Given the description of an element on the screen output the (x, y) to click on. 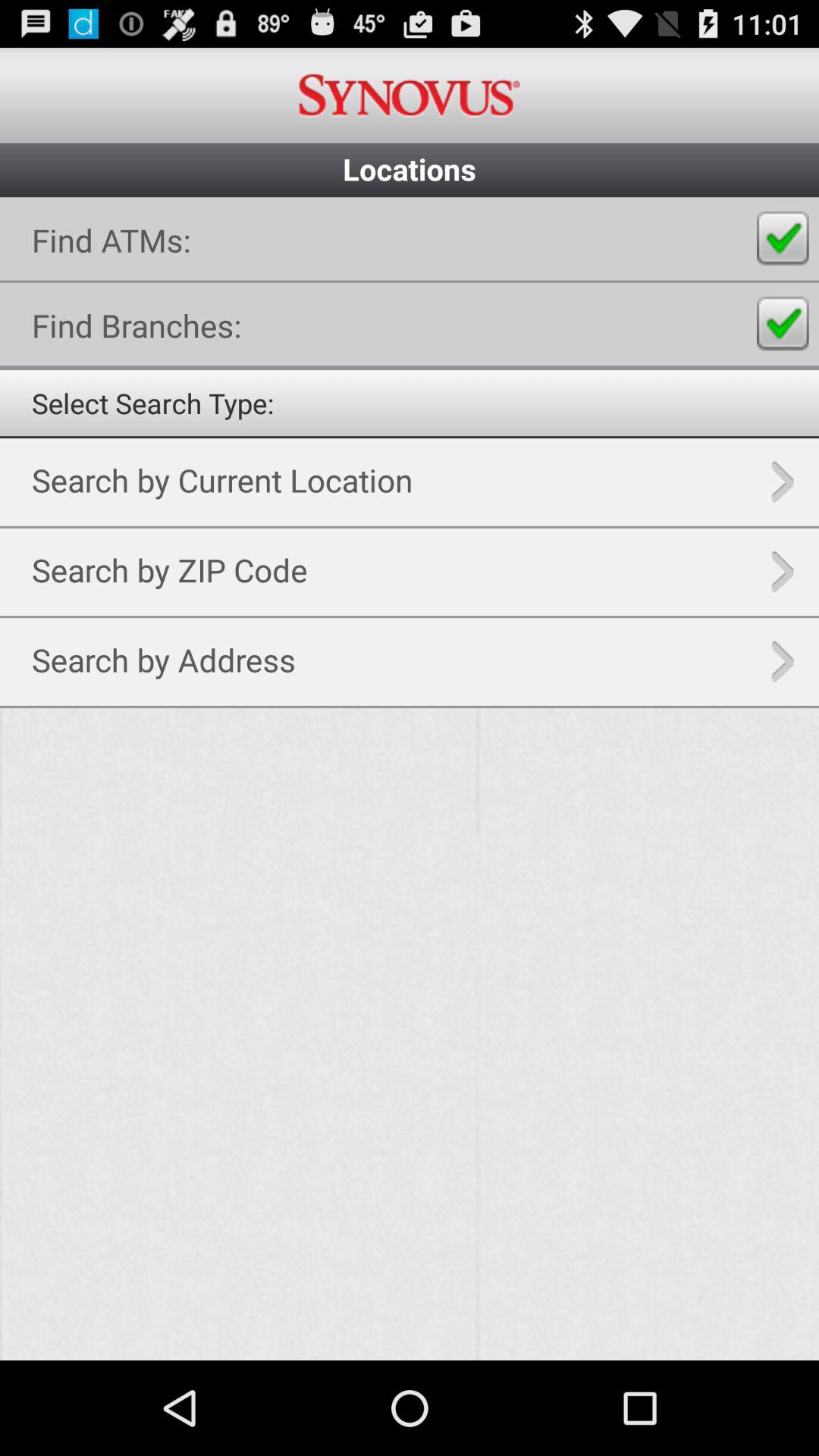
tap the item next to the find atms: (782, 238)
